Given the description of an element on the screen output the (x, y) to click on. 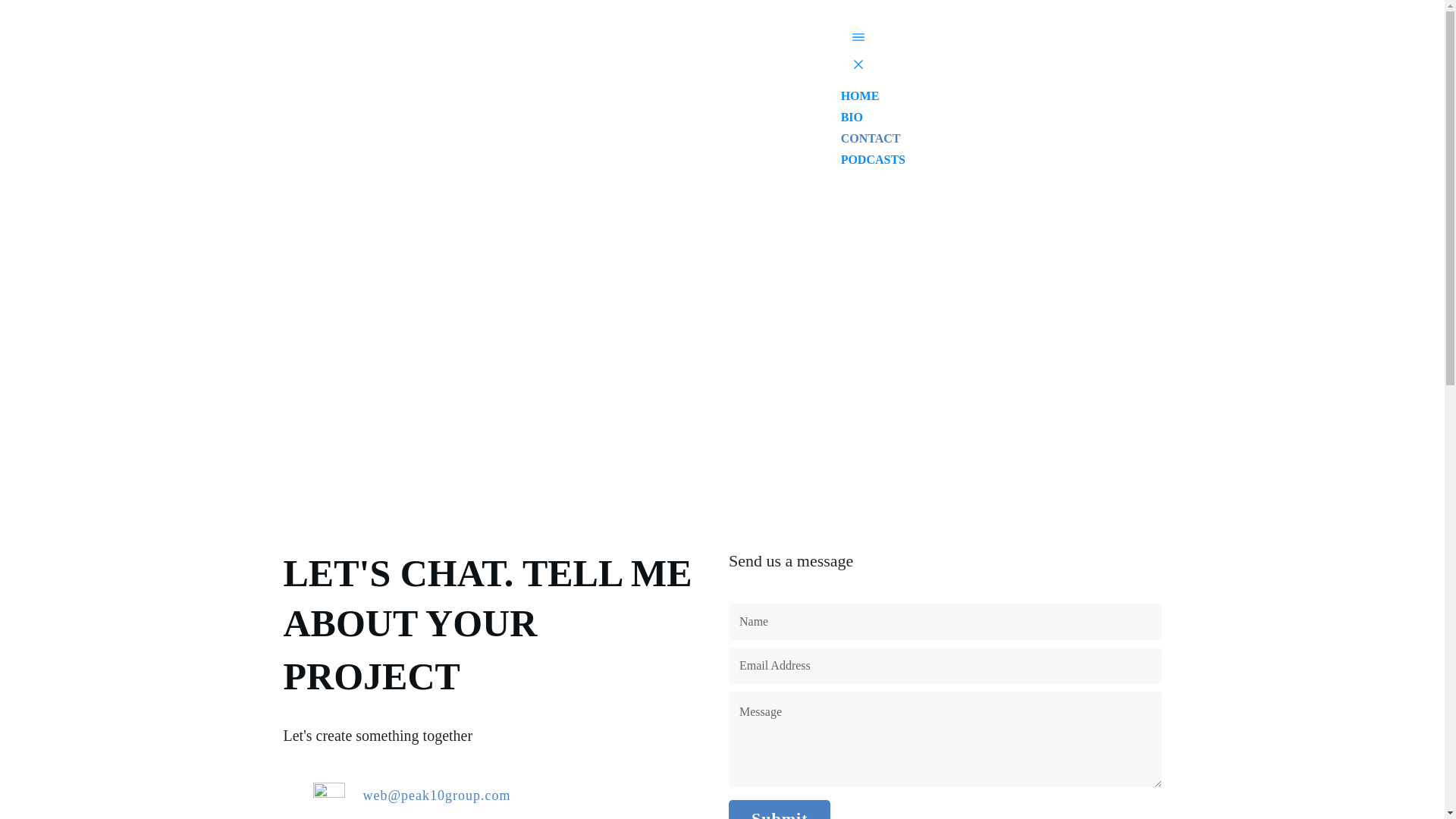
HOME (860, 95)
Submit (779, 809)
BIO (852, 116)
CONTACT (871, 137)
PODCASTS (873, 159)
